Given the description of an element on the screen output the (x, y) to click on. 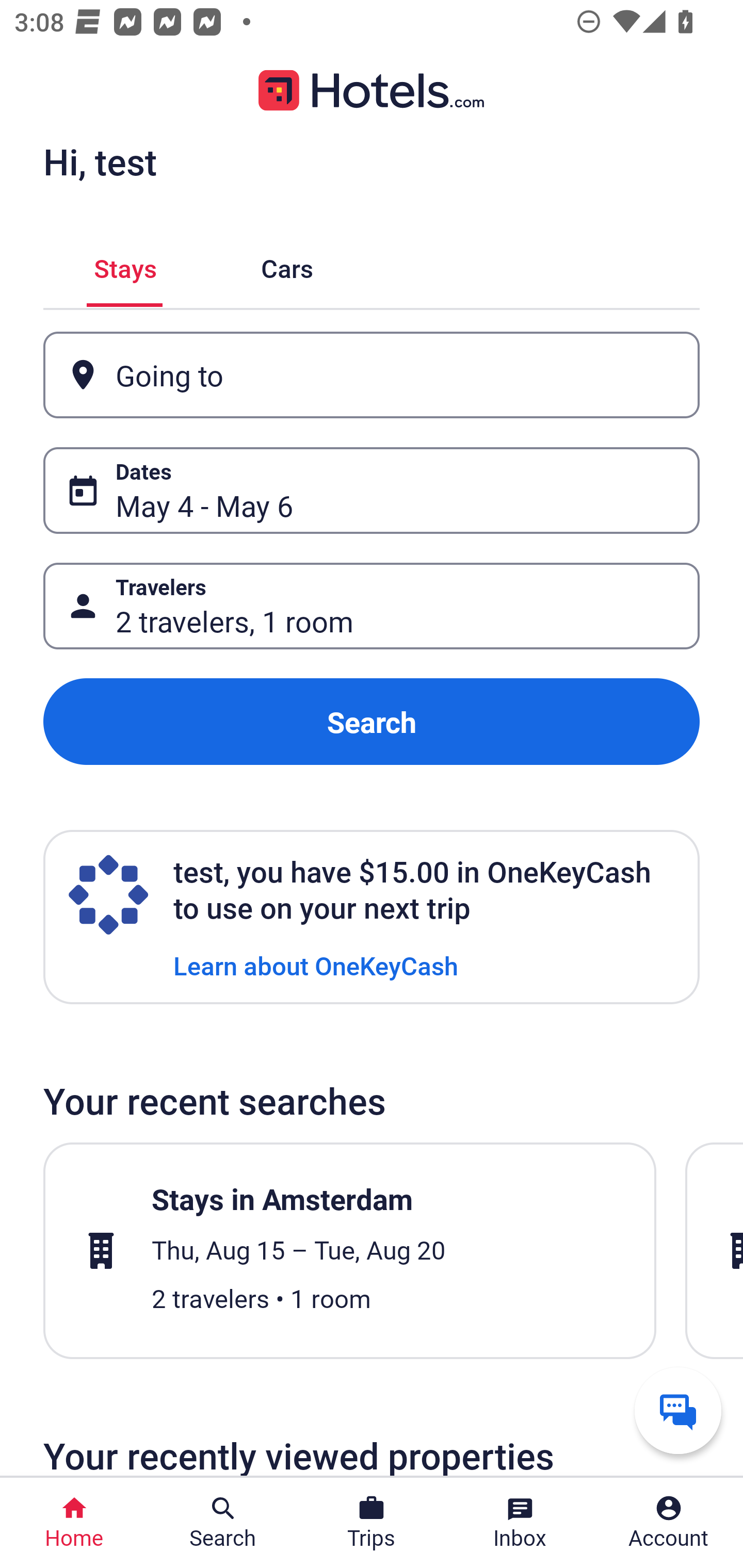
Hi, test (99, 161)
Cars (286, 265)
Going to Button (371, 375)
Dates Button May 4 - May 6 (371, 489)
Travelers Button 2 travelers, 1 room (371, 605)
Search (371, 721)
Learn about OneKeyCash Learn about OneKeyCash Link (315, 964)
Get help from a virtual agent (677, 1410)
Search Search Button (222, 1522)
Trips Trips Button (371, 1522)
Inbox Inbox Button (519, 1522)
Account Profile. Button (668, 1522)
